Given the description of an element on the screen output the (x, y) to click on. 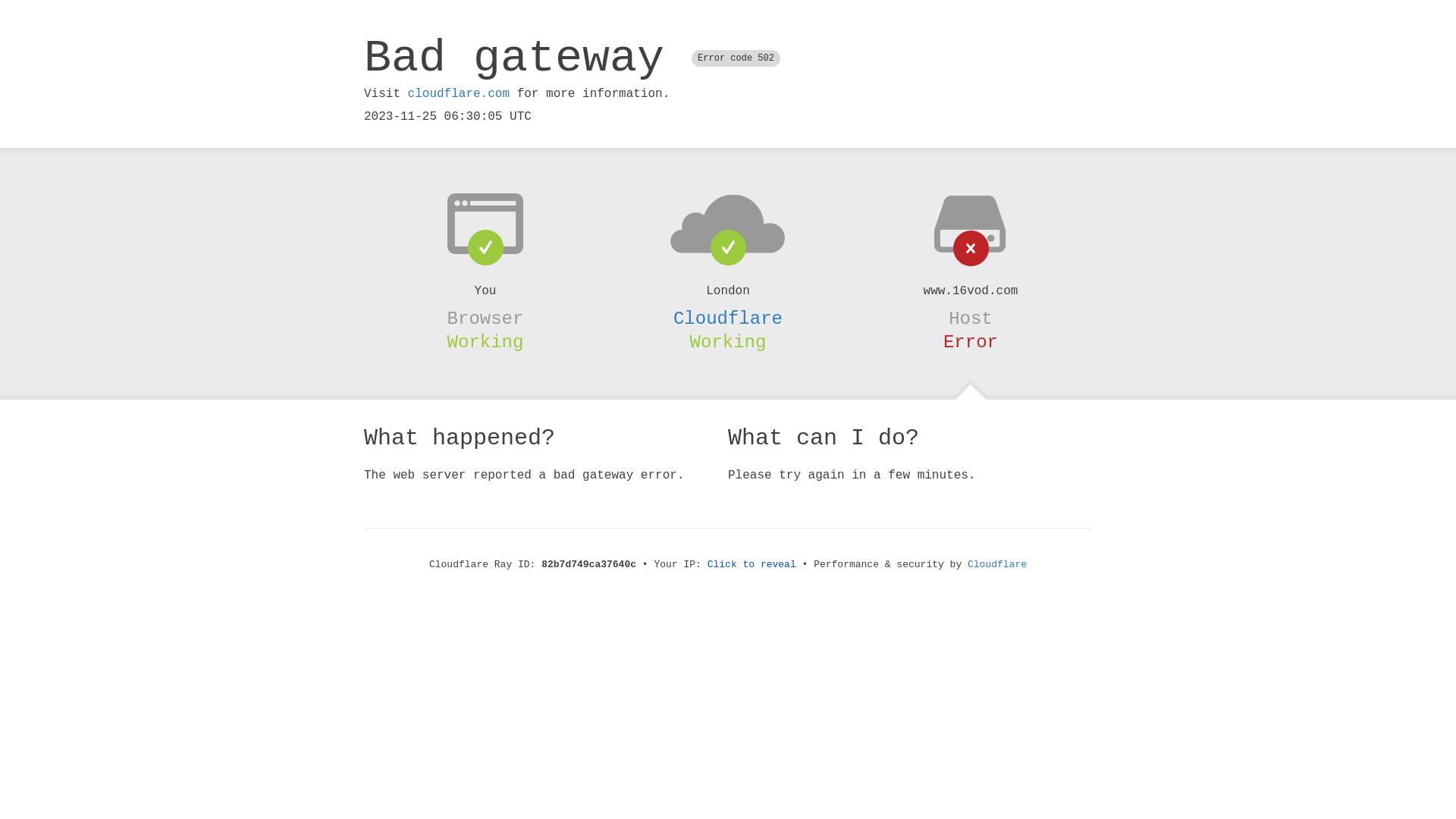
Cloudflare Element type: text (996, 564)
Click to reveal Element type: text (751, 564)
cloudflare.com Element type: text (458, 93)
Cloudflare Element type: text (727, 318)
